Given the description of an element on the screen output the (x, y) to click on. 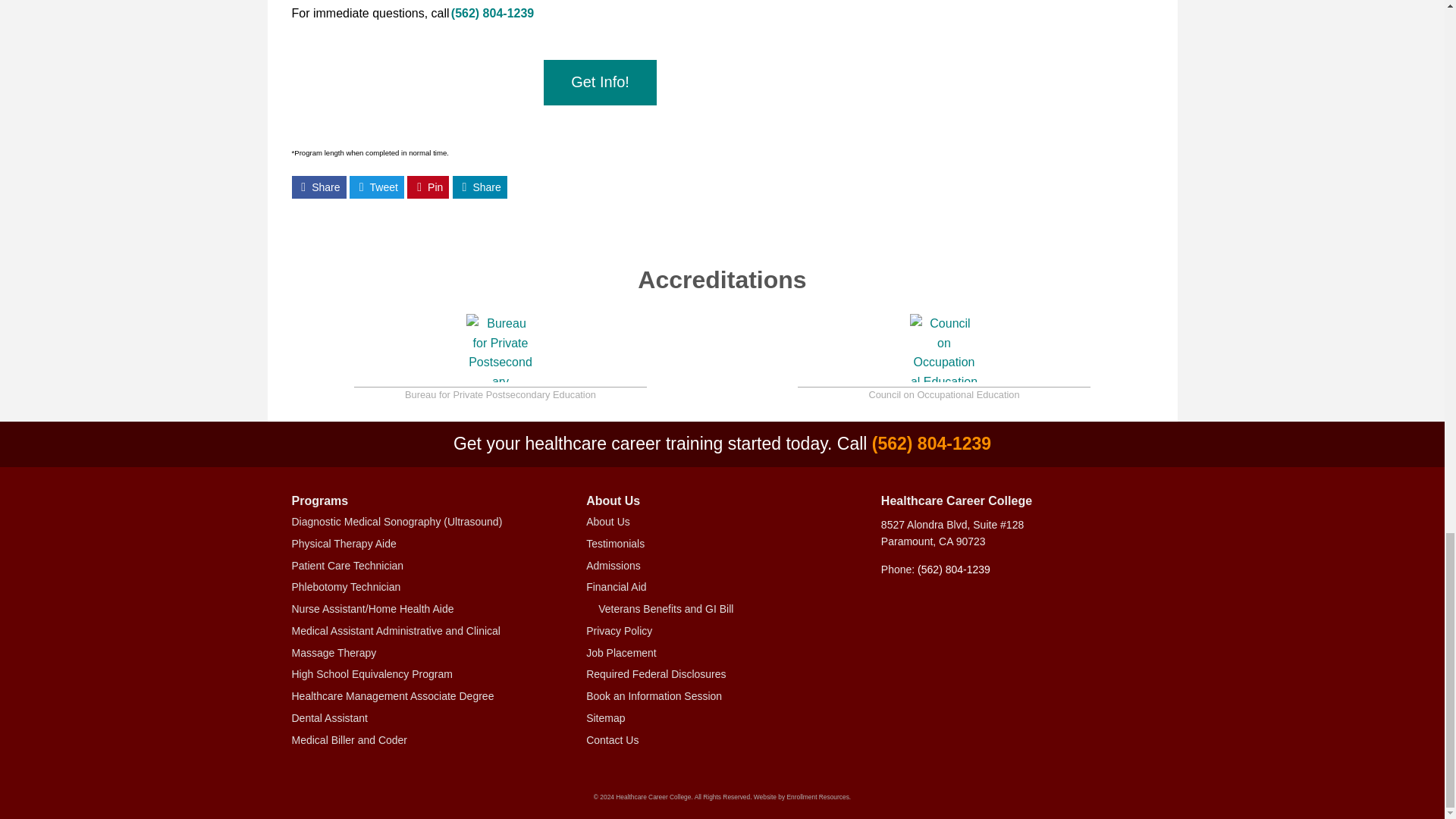
Tweet this (376, 187)
Pin on Pinterest (427, 187)
Call this number (492, 12)
Share on Facebook (318, 187)
